Given the description of an element on the screen output the (x, y) to click on. 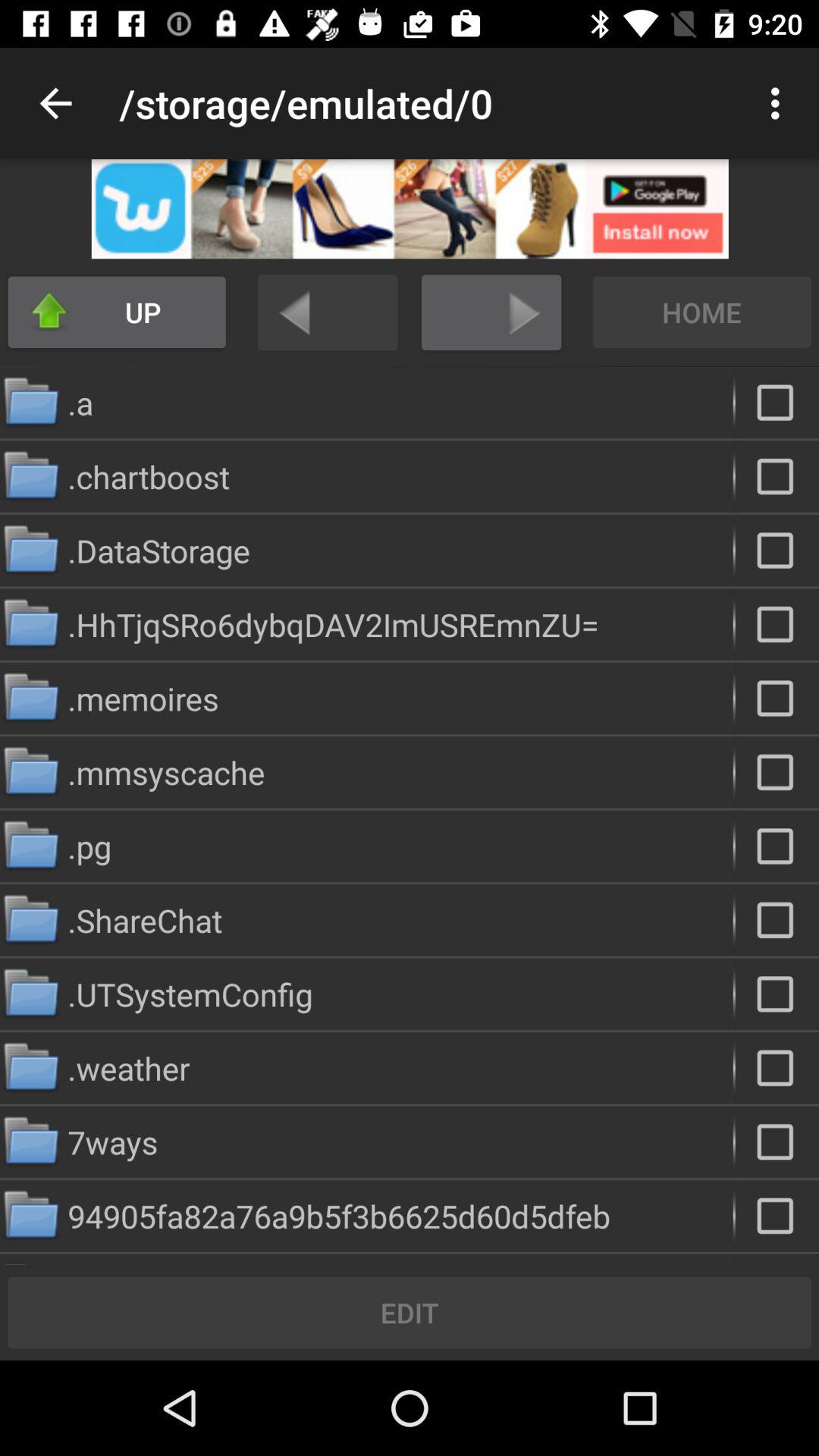
go to next page (491, 312)
